Given the description of an element on the screen output the (x, y) to click on. 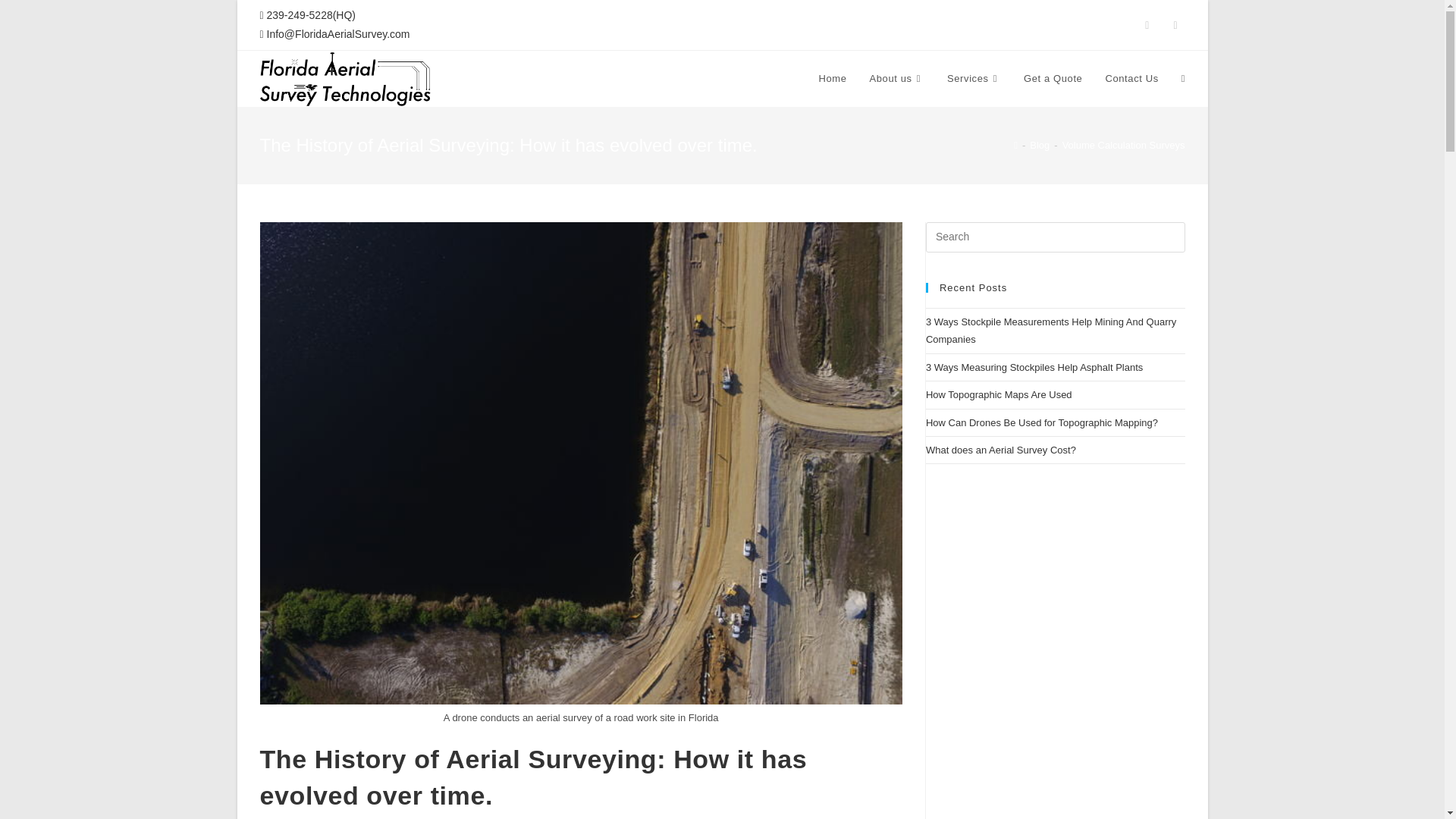
About us (897, 78)
Get a Quote (1052, 78)
Services (973, 78)
Contact Us (1131, 78)
Home (831, 78)
